Given the description of an element on the screen output the (x, y) to click on. 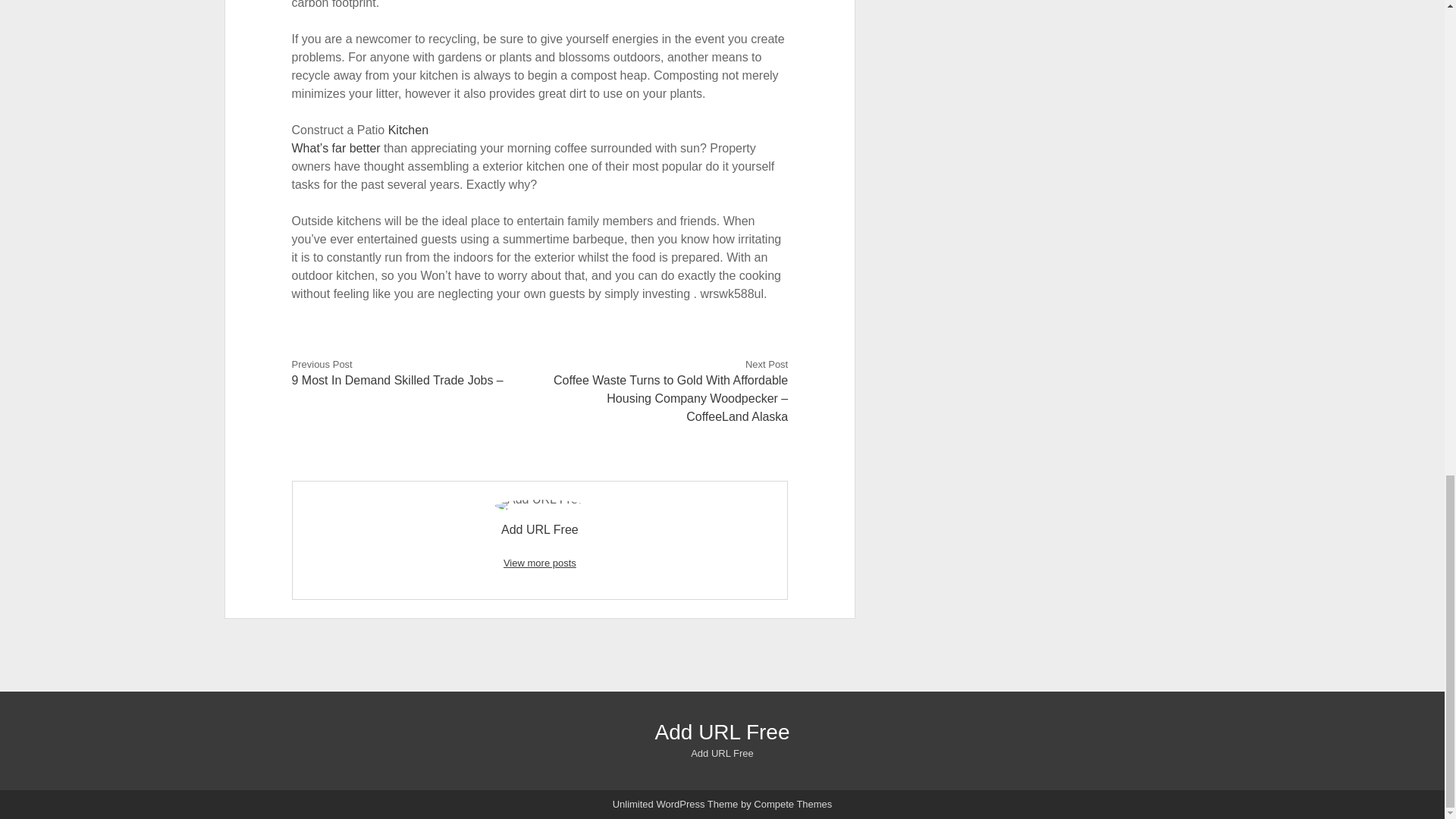
Unlimited WordPress Theme (675, 803)
View more posts (539, 562)
Add URL Free (722, 731)
